Given the description of an element on the screen output the (x, y) to click on. 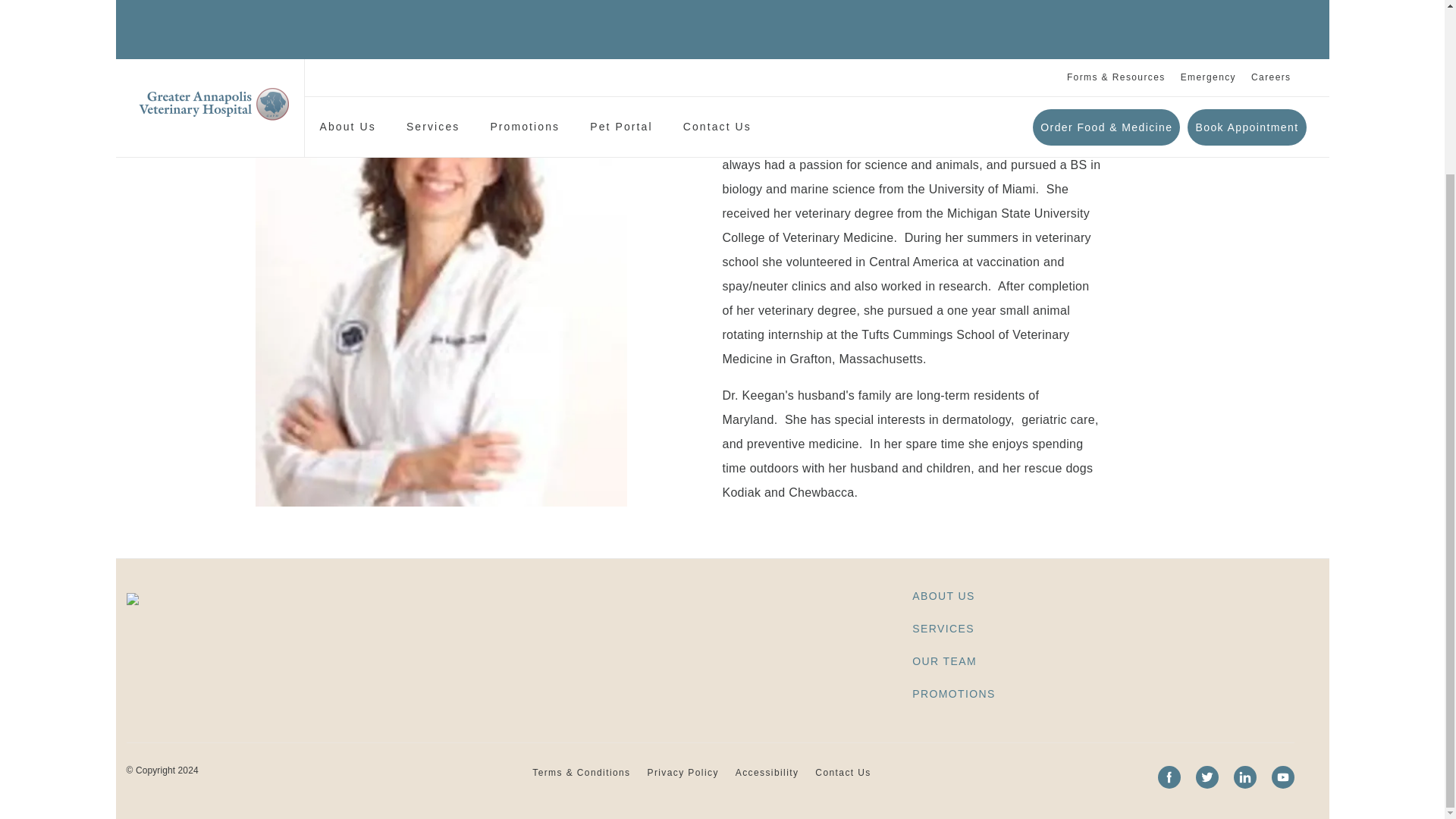
Contact Us (842, 800)
OUR TEAM (944, 689)
SERVICES (943, 656)
PROMOTIONS (953, 721)
ABOUT US (943, 623)
Accessibility (767, 800)
Privacy Policy (683, 800)
